Given the description of an element on the screen output the (x, y) to click on. 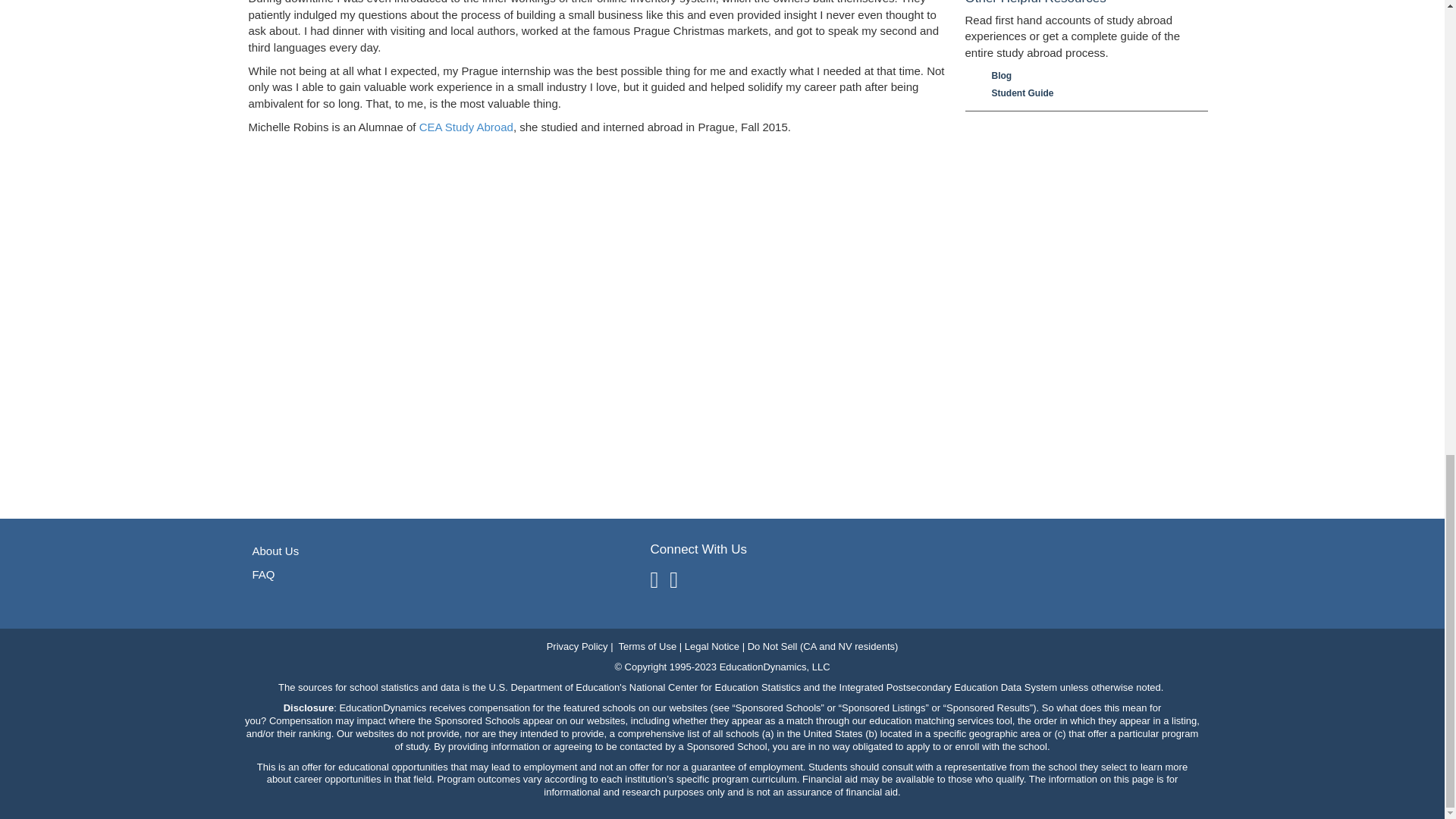
Blog (1092, 75)
Other Helpful Resources (1085, 5)
CEA Study Abroad (466, 126)
